Given the description of an element on the screen output the (x, y) to click on. 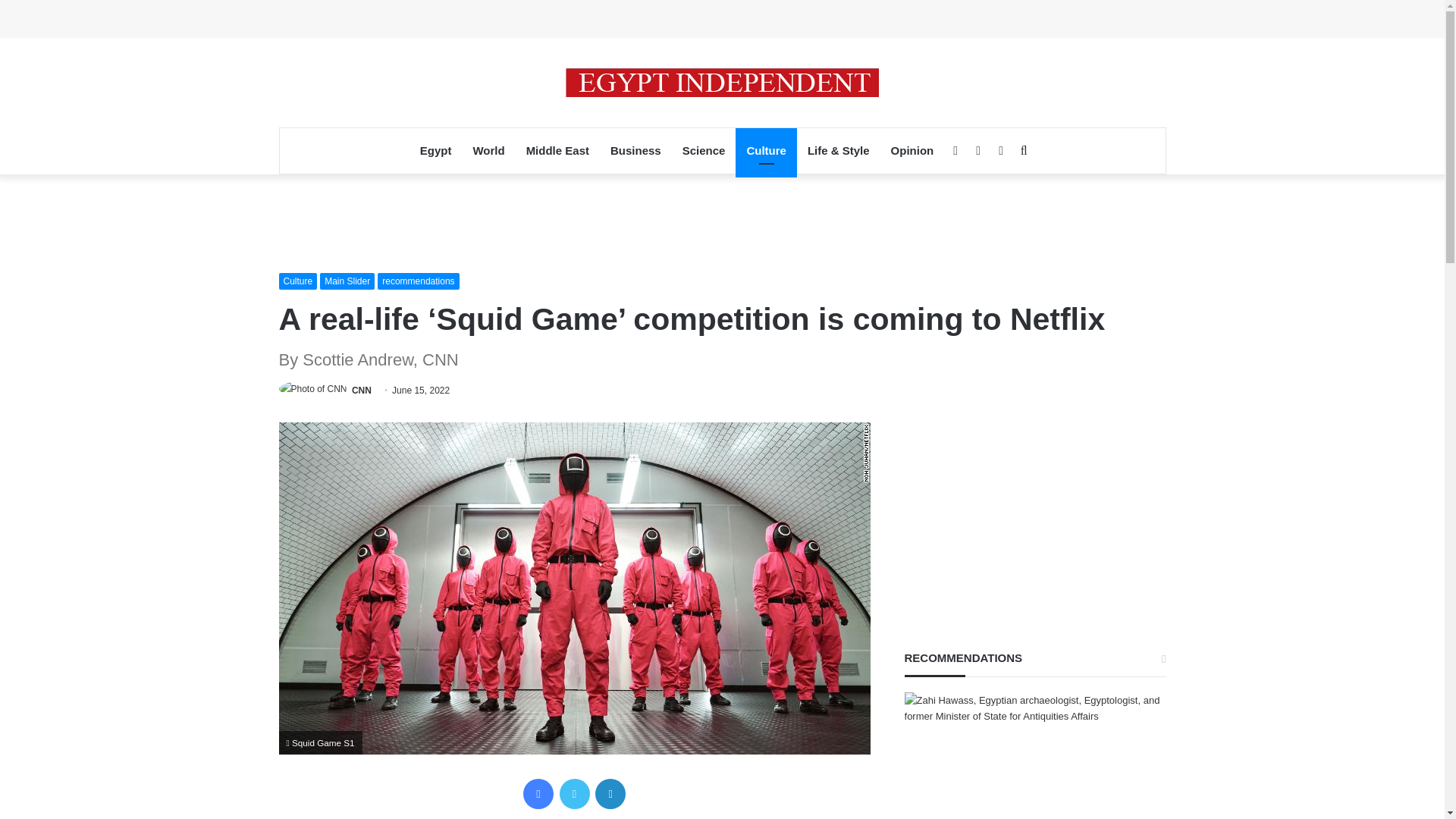
Egypt Independent (722, 82)
LinkedIn (610, 793)
Culture (298, 280)
CNN (361, 389)
Main Slider (347, 280)
CNN (361, 389)
Facebook (537, 793)
Science (703, 150)
LinkedIn (610, 793)
recommendations (417, 280)
Culture (765, 150)
Facebook (537, 793)
Middle East (557, 150)
Egypt (436, 150)
Twitter (574, 793)
